Given the description of an element on the screen output the (x, y) to click on. 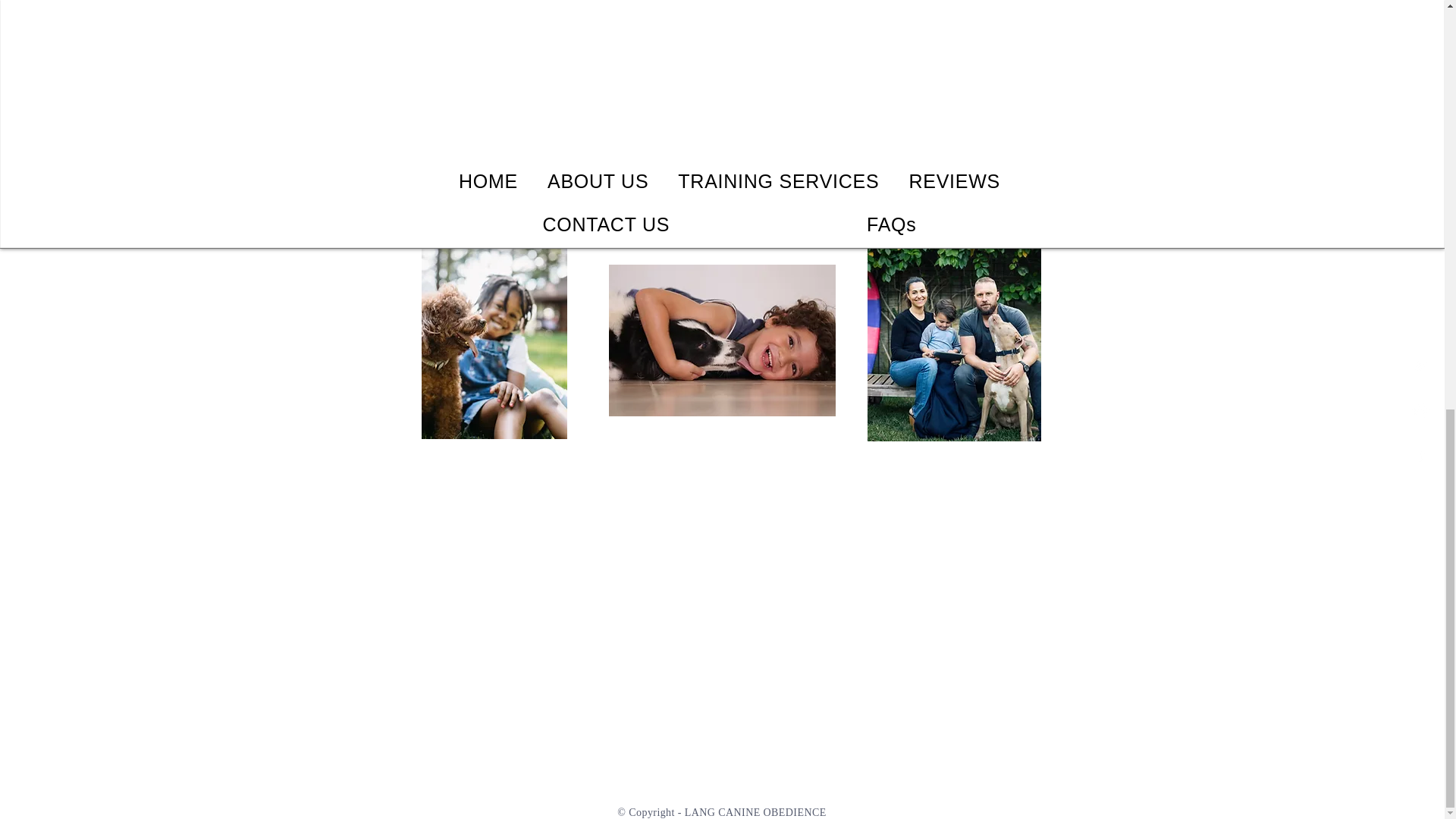
Get Started (721, 184)
